Given the description of an element on the screen output the (x, y) to click on. 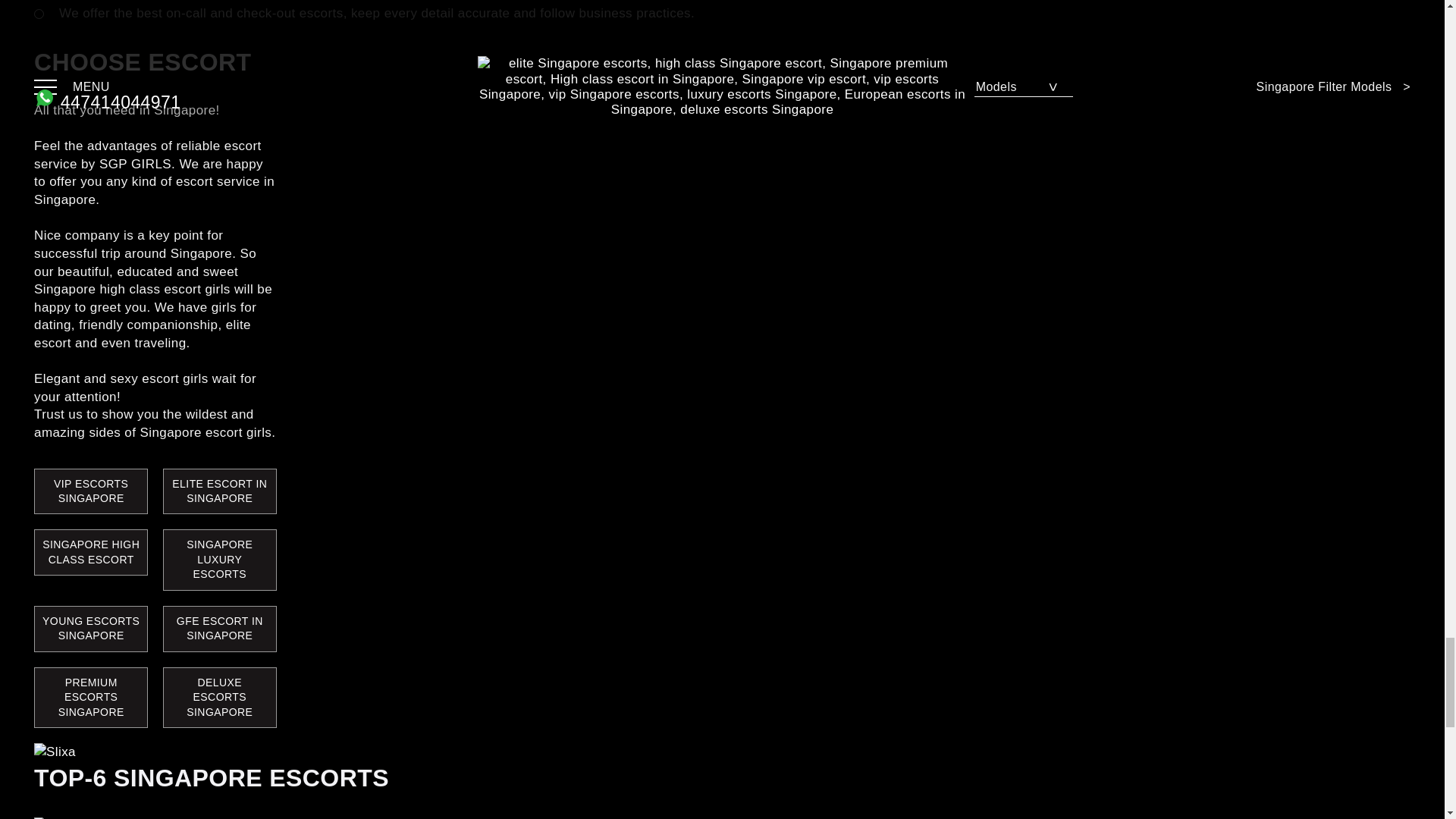
Slixa (54, 751)
Slixa (54, 751)
